Given the description of an element on the screen output the (x, y) to click on. 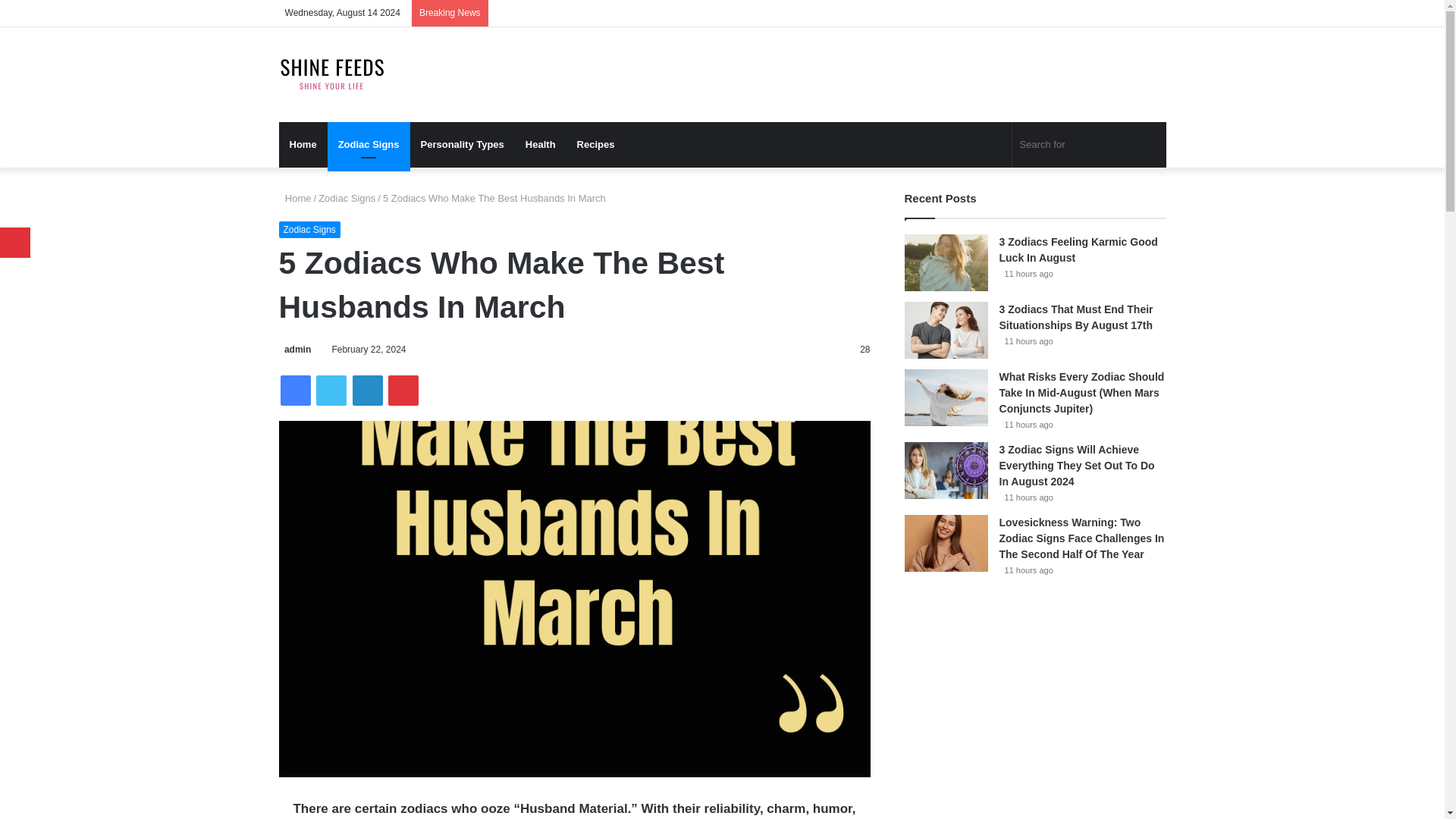
Zodiac Signs (368, 144)
Personality Types (462, 144)
Zodiac Signs (309, 229)
Pinterest (403, 390)
Home (295, 197)
admin (295, 348)
Pinterest (403, 390)
Search for (1088, 144)
ShineFeeds (332, 74)
LinkedIn (367, 390)
